Given the description of an element on the screen output the (x, y) to click on. 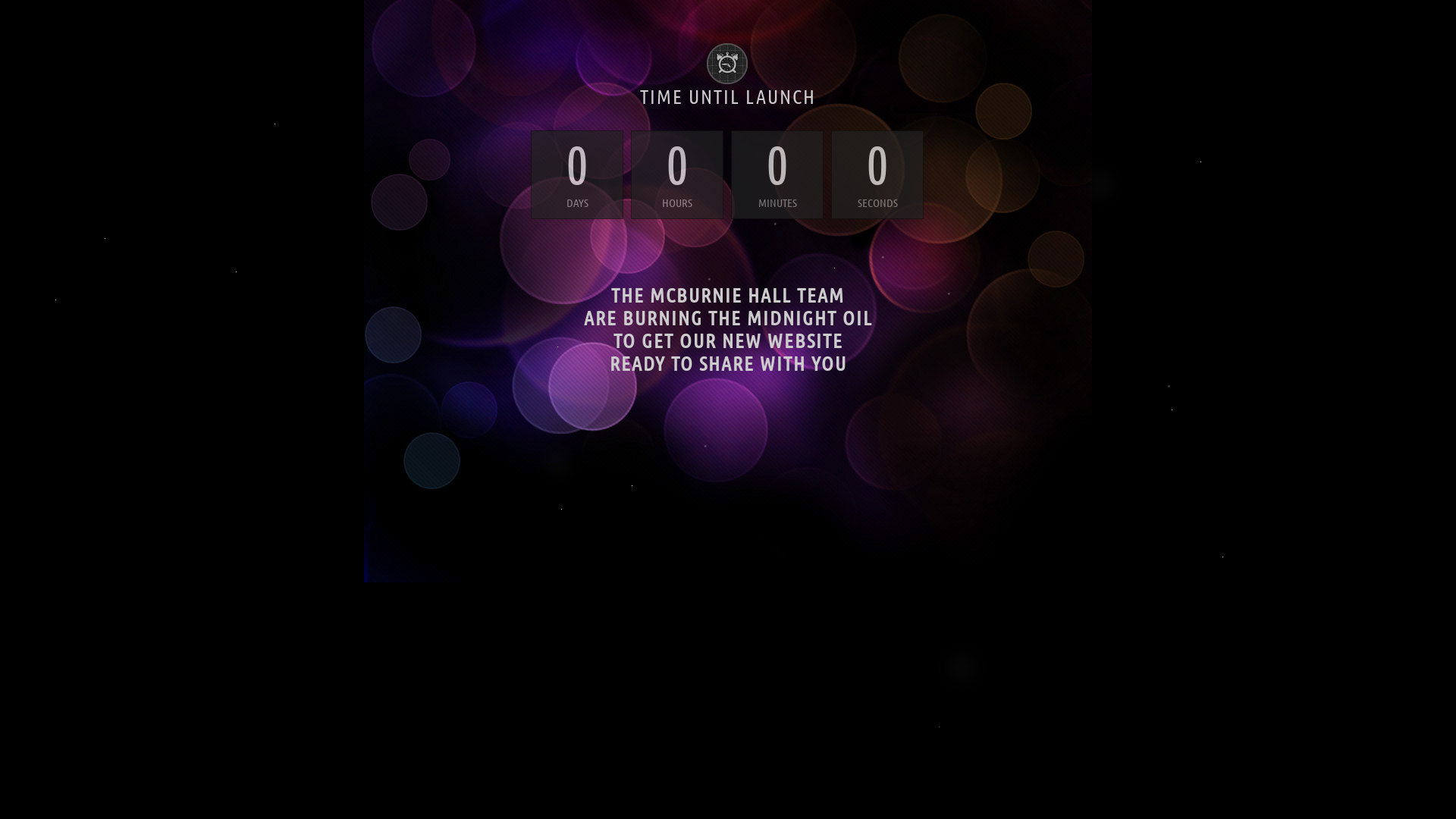
...We're burning the midnight oil to build our new site Element type: text (727, 411)
